Given the description of an element on the screen output the (x, y) to click on. 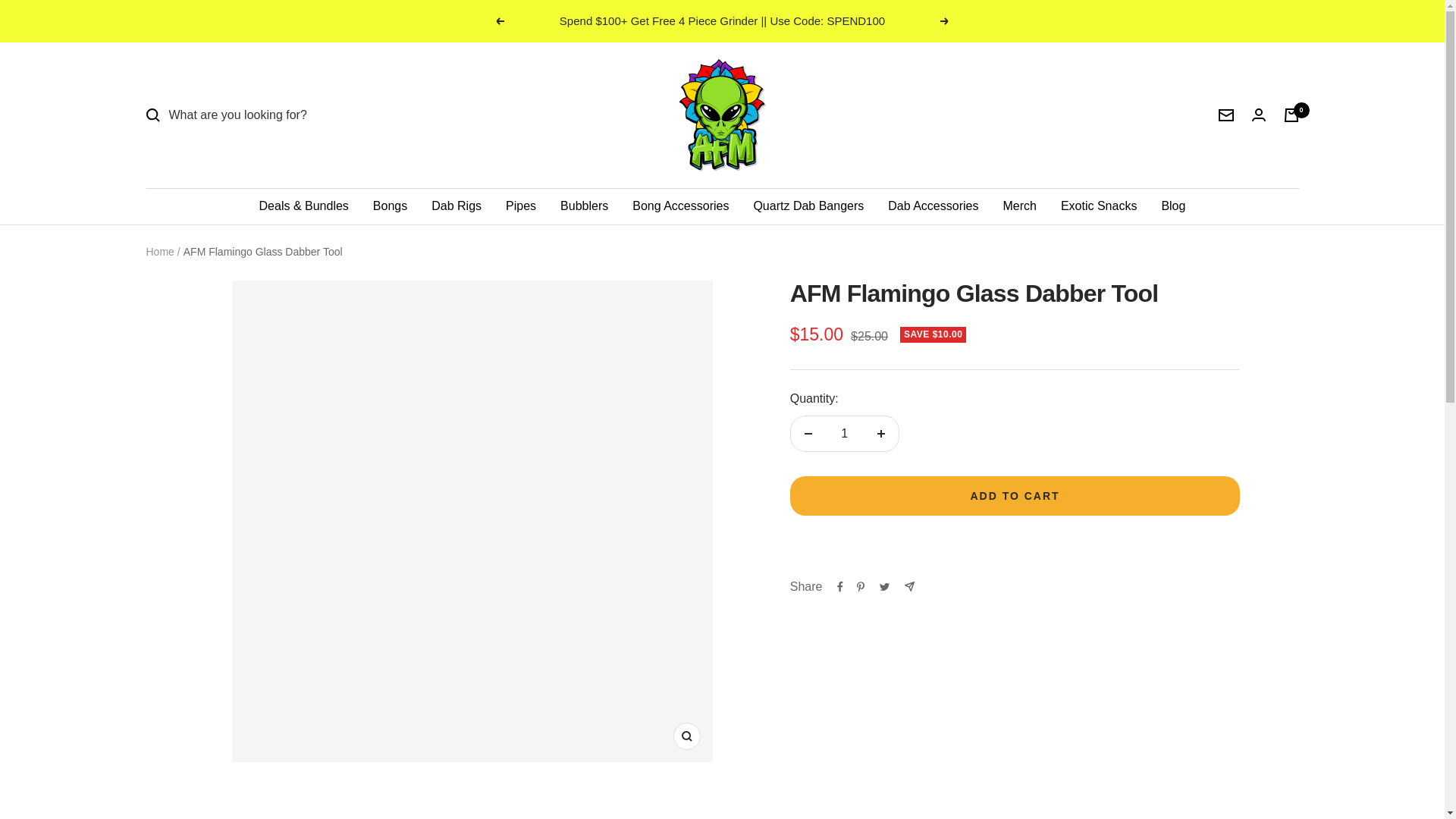
Bong Accessories (680, 206)
Next (944, 21)
Previous (499, 21)
Bongs (389, 206)
Pipes (520, 206)
Dab Rigs (455, 206)
1 (844, 433)
Bubblers (584, 206)
Quartz Dab Bangers (807, 206)
Exotic Snacks (1099, 206)
